Given the description of an element on the screen output the (x, y) to click on. 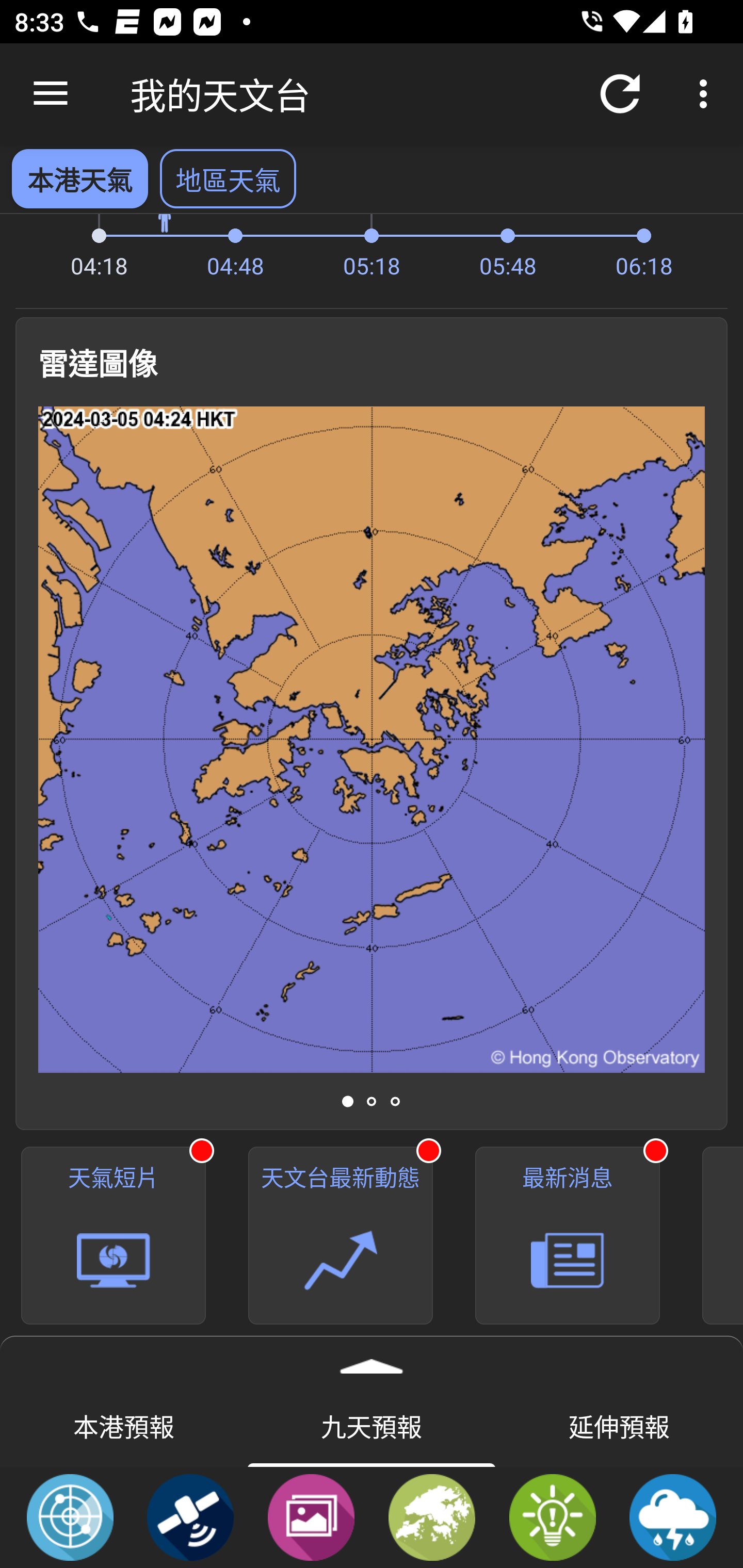
向上瀏覽 (50, 93)
重新整理 (619, 93)
更多選項 (706, 93)
本港天氣 已選擇 本港天氣 (79, 178)
地區天氣 選擇 地區天氣 (227, 178)
雷達圖像 64 公里 (371, 739)
天氣短片 有1個未讀訊息 (113, 1235)
天文台最新動態 有1個未讀訊息 (340, 1235)
最新消息 有1個未讀訊息 (567, 1235)
展開 (371, 1358)
本港預報 (123, 1424)
延伸預報 (619, 1424)
雷達圖像 (69, 1516)
衛星圖像 (190, 1516)
天氣照片 (310, 1516)
分區天氣 (431, 1516)
天氣提示 (551, 1516)
定點降雨及閃電預報 (672, 1516)
